Given the description of an element on the screen output the (x, y) to click on. 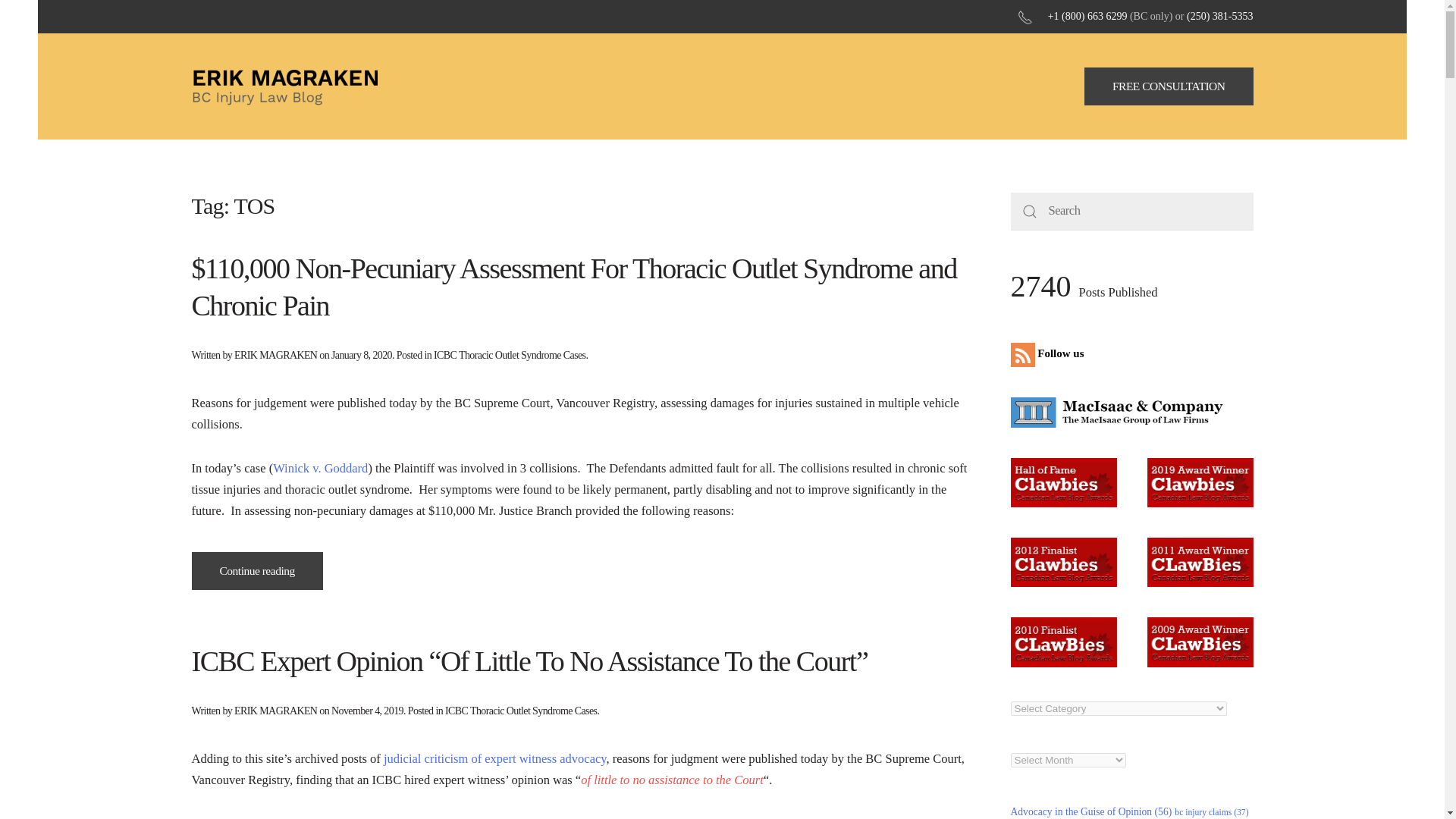
ERIK MAGRAKEN (275, 355)
ERIK MAGRAKEN (275, 710)
Tench v. Van Bugnum (328, 817)
judicial criticism of expert witness advocacy (495, 758)
ICBC Thoracic Outlet Syndrome Cases (509, 355)
ICBC Thoracic Outlet Syndrome Cases (520, 710)
Continue reading (255, 570)
Winick v. Goddard (320, 468)
FREE CONSULTATION (1168, 86)
